Given the description of an element on the screen output the (x, y) to click on. 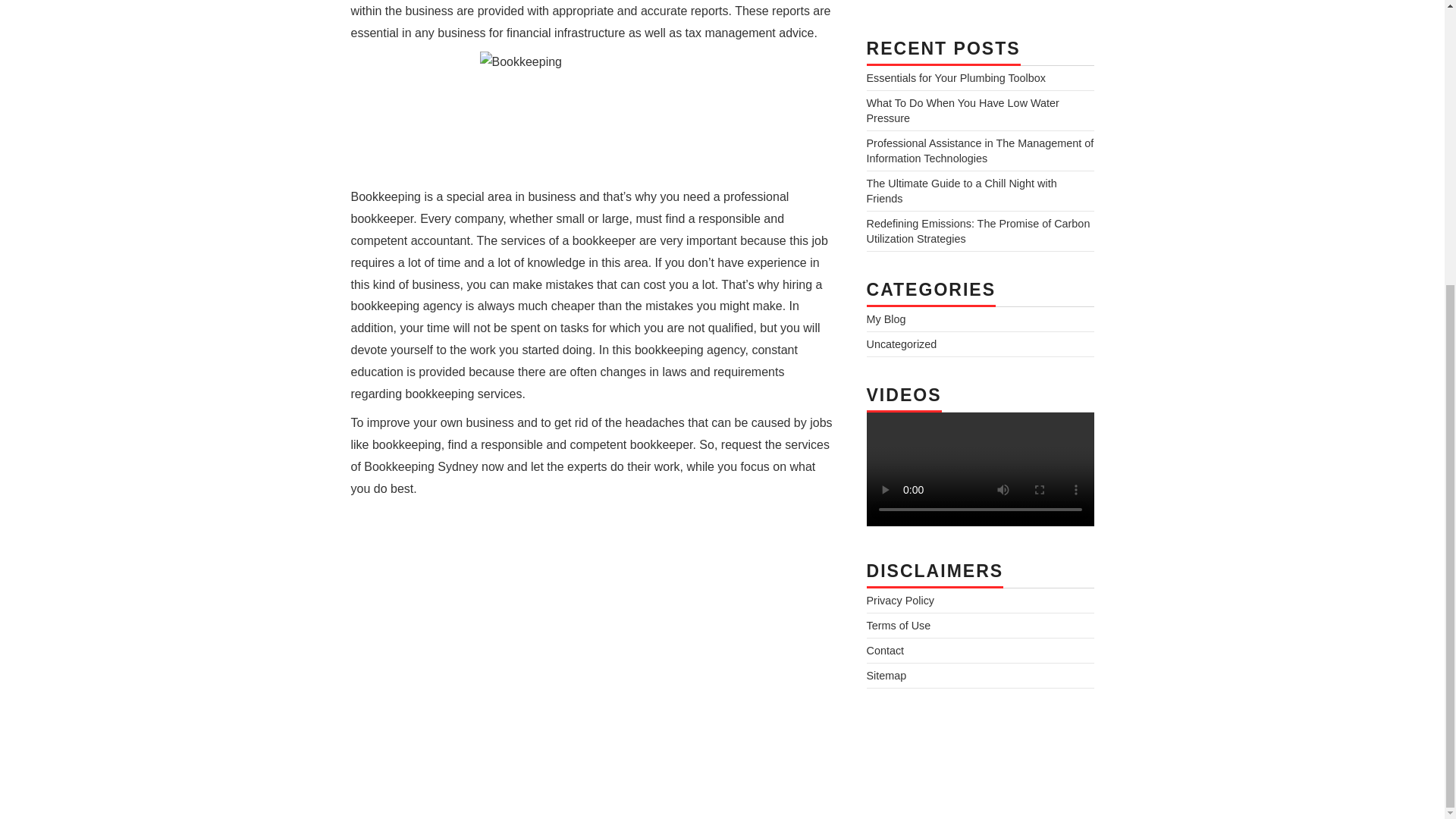
Uncategorized (901, 344)
YouTube video player (562, 618)
My Blog (885, 318)
Privacy Policy (900, 600)
Contact (885, 650)
What To Do When You Have Low Water Pressure (962, 110)
Terms of Use (898, 625)
The Ultimate Guide to a Chill Night with Friends (961, 190)
Essentials for Your Plumbing Toolbox (955, 78)
